Given the description of an element on the screen output the (x, y) to click on. 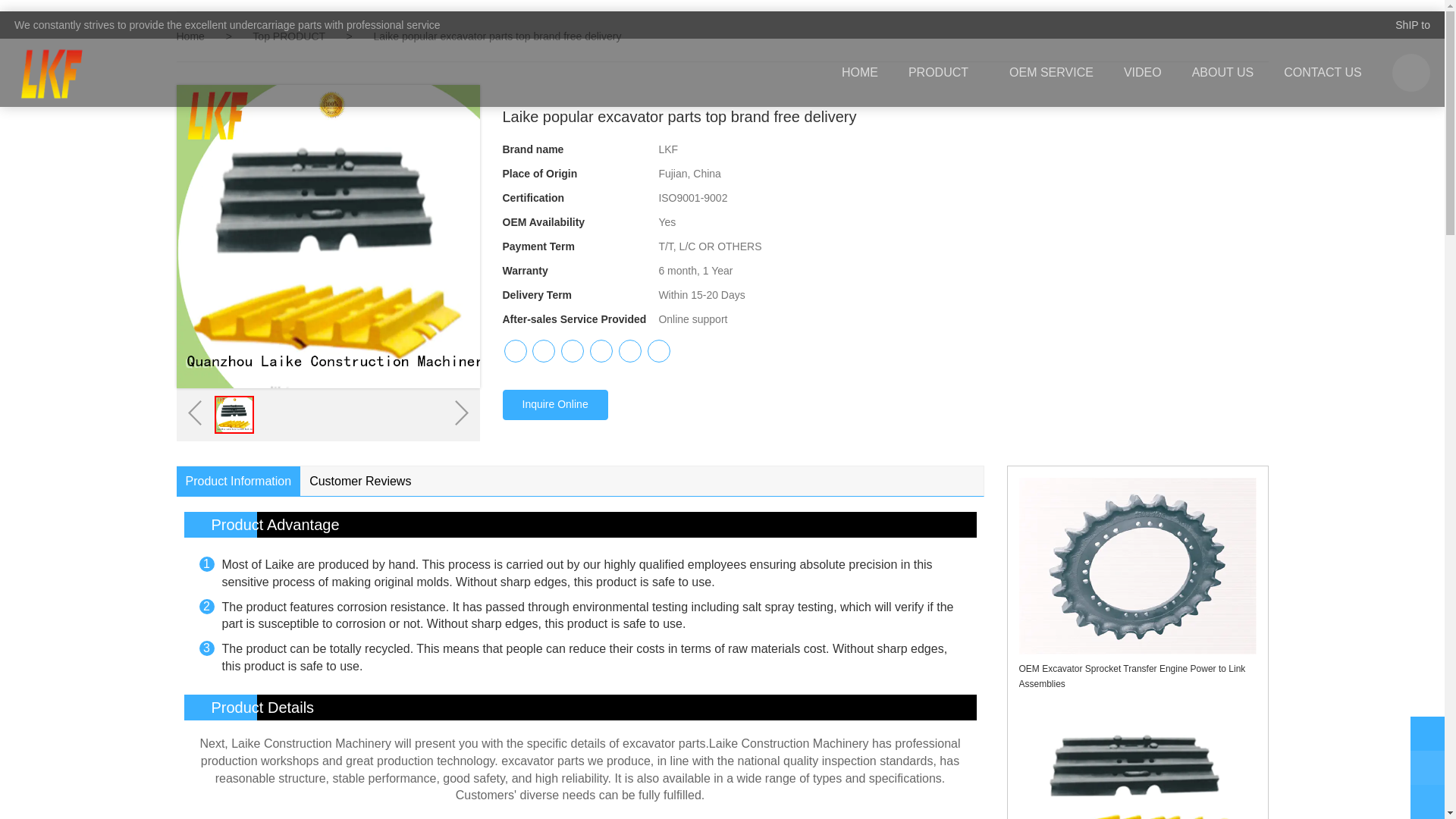
Home (189, 36)
CONTACT US (1322, 72)
Inquire Online (554, 404)
VIDEO (1142, 72)
Product Information (237, 481)
ABOUT US (1222, 72)
HOME (860, 72)
PRODUCT (943, 72)
Customer Reviews (359, 481)
Top PRODUCT (289, 36)
OEM SERVICE (1051, 72)
